Given the description of an element on the screen output the (x, y) to click on. 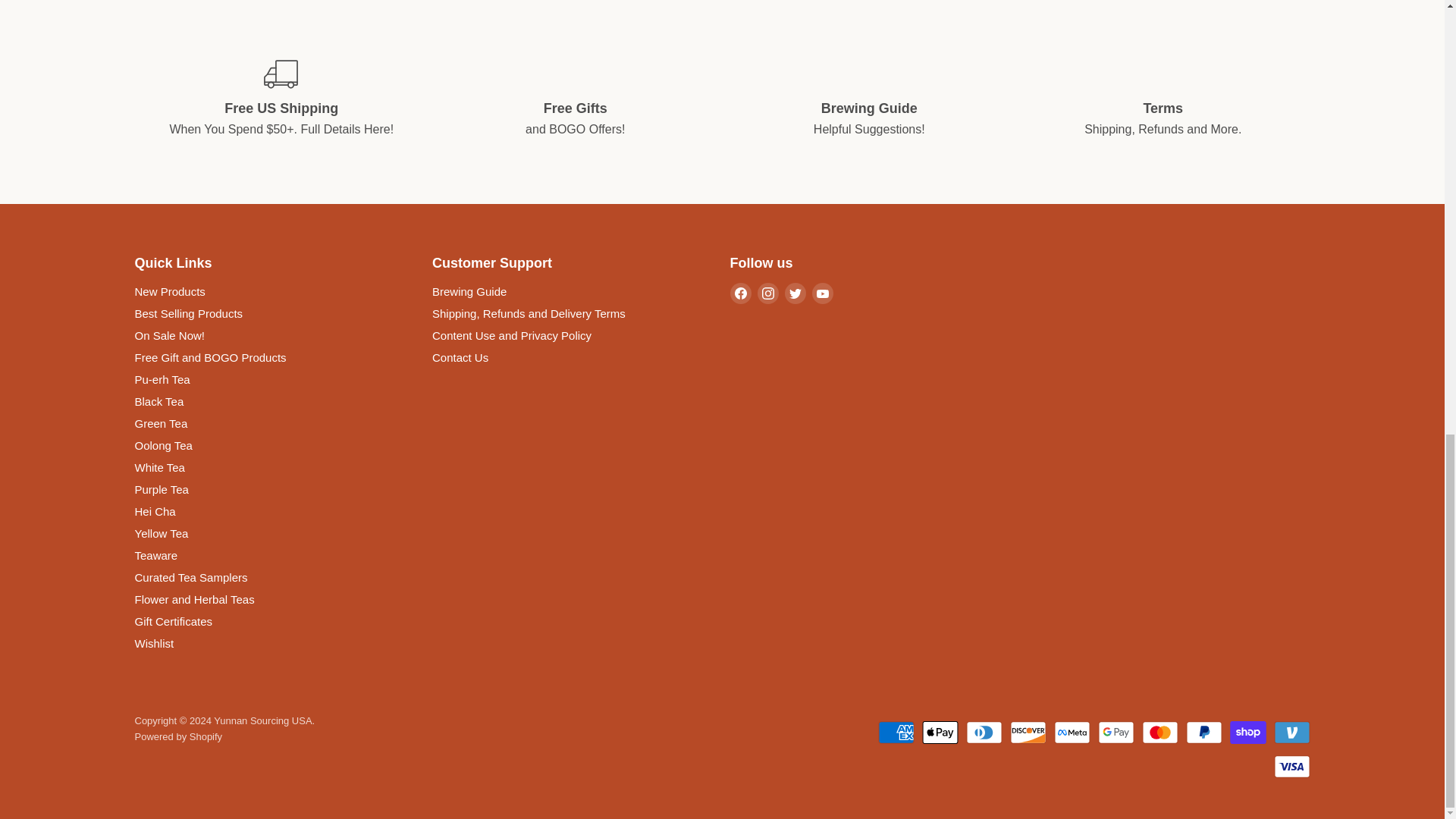
Instagram (767, 292)
Facebook (740, 292)
YouTube (821, 292)
Twitter (794, 292)
